Given the description of an element on the screen output the (x, y) to click on. 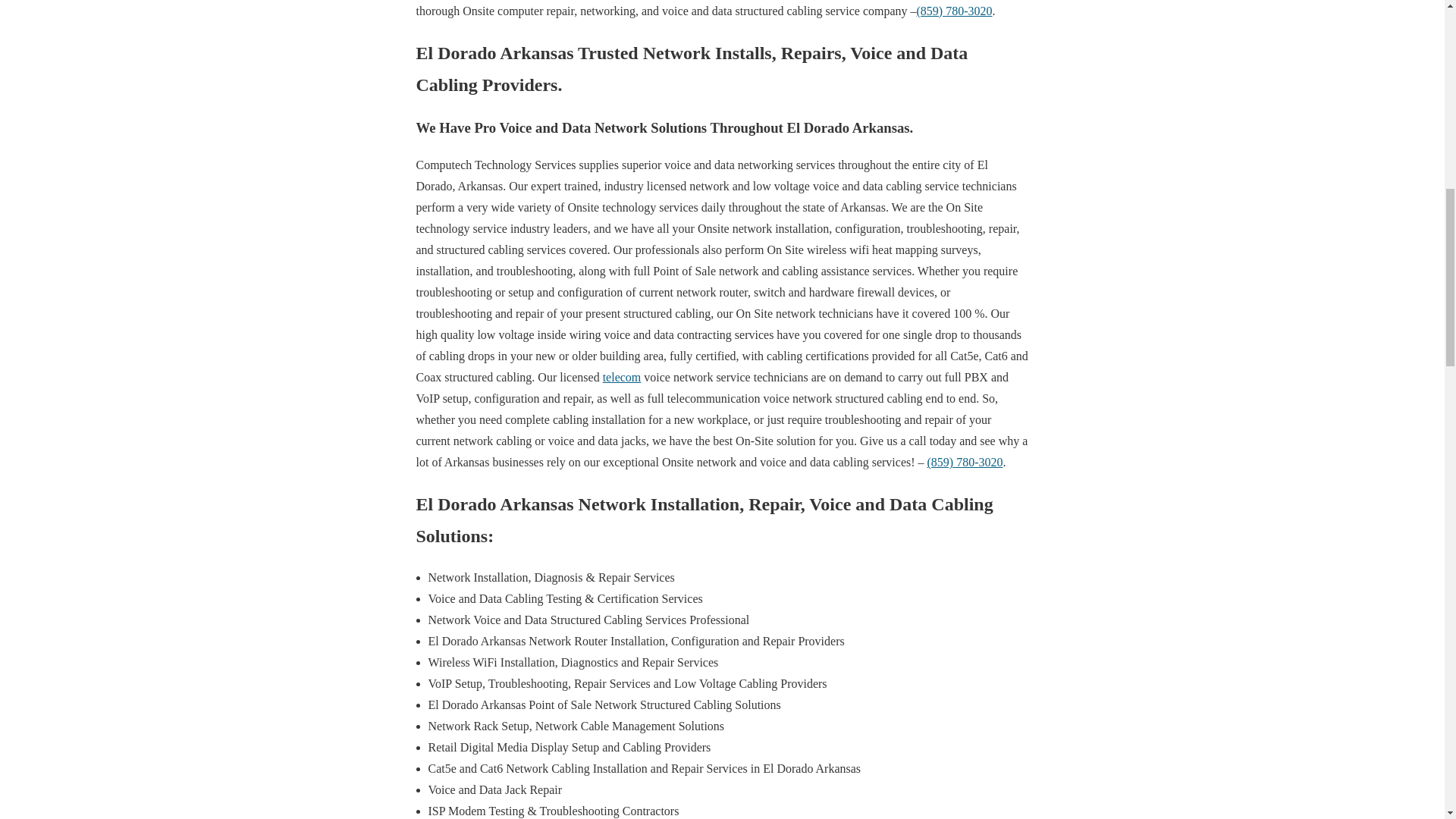
telecom (622, 377)
